Given the description of an element on the screen output the (x, y) to click on. 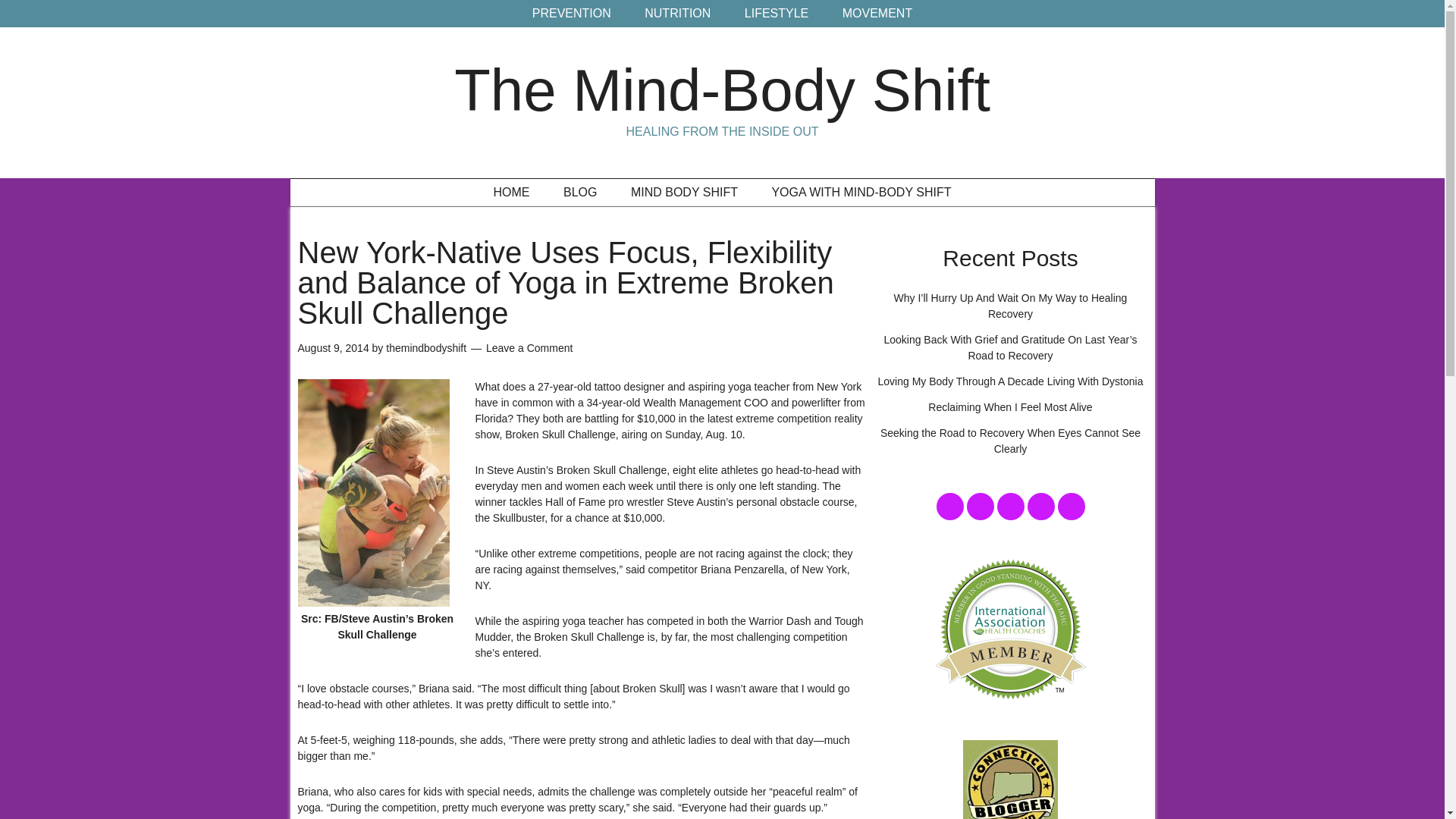
NUTRITION (676, 13)
HOME (511, 192)
The Mind-Body Shift (722, 89)
Seeking the Road to Recovery When Eyes Cannot See Clearly (1010, 440)
YOGA WITH MIND-BODY SHIFT (860, 192)
PREVENTION (571, 13)
MOVEMENT (877, 13)
BLOG (579, 192)
Reclaiming When I Feel Most Alive (1010, 407)
LIFESTYLE (776, 13)
